Given the description of an element on the screen output the (x, y) to click on. 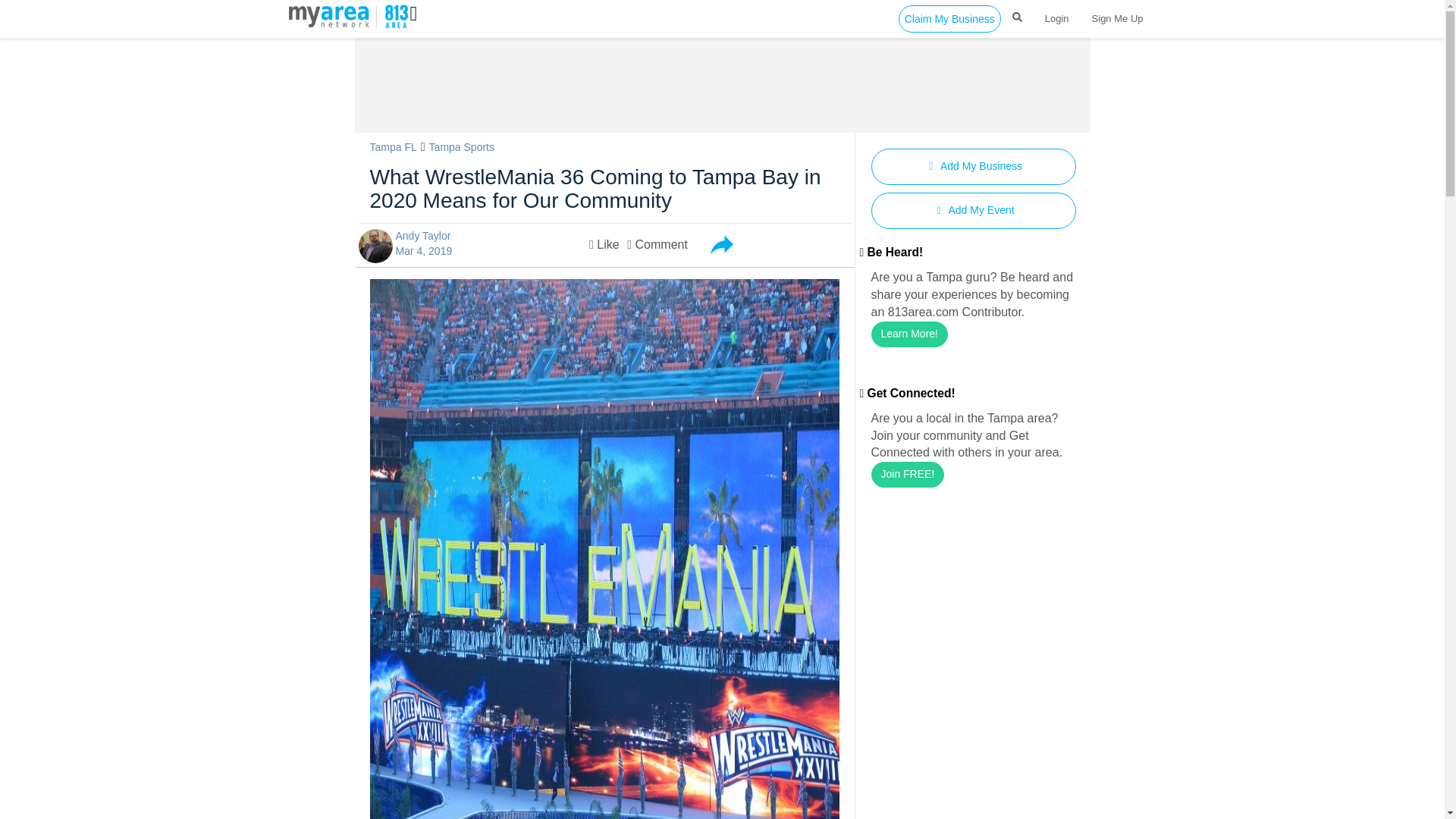
Login (1056, 18)
Claim My Business (949, 18)
Claim My Business (949, 18)
Add My Event (972, 210)
Sign Me Up (1117, 18)
Add My Business (972, 166)
Add My Business (972, 166)
Login (1056, 18)
Sign Me Up (1117, 18)
Learn More! (908, 334)
Add Events (972, 210)
Learn More! (908, 334)
Join FREE! (906, 474)
